Given the description of an element on the screen output the (x, y) to click on. 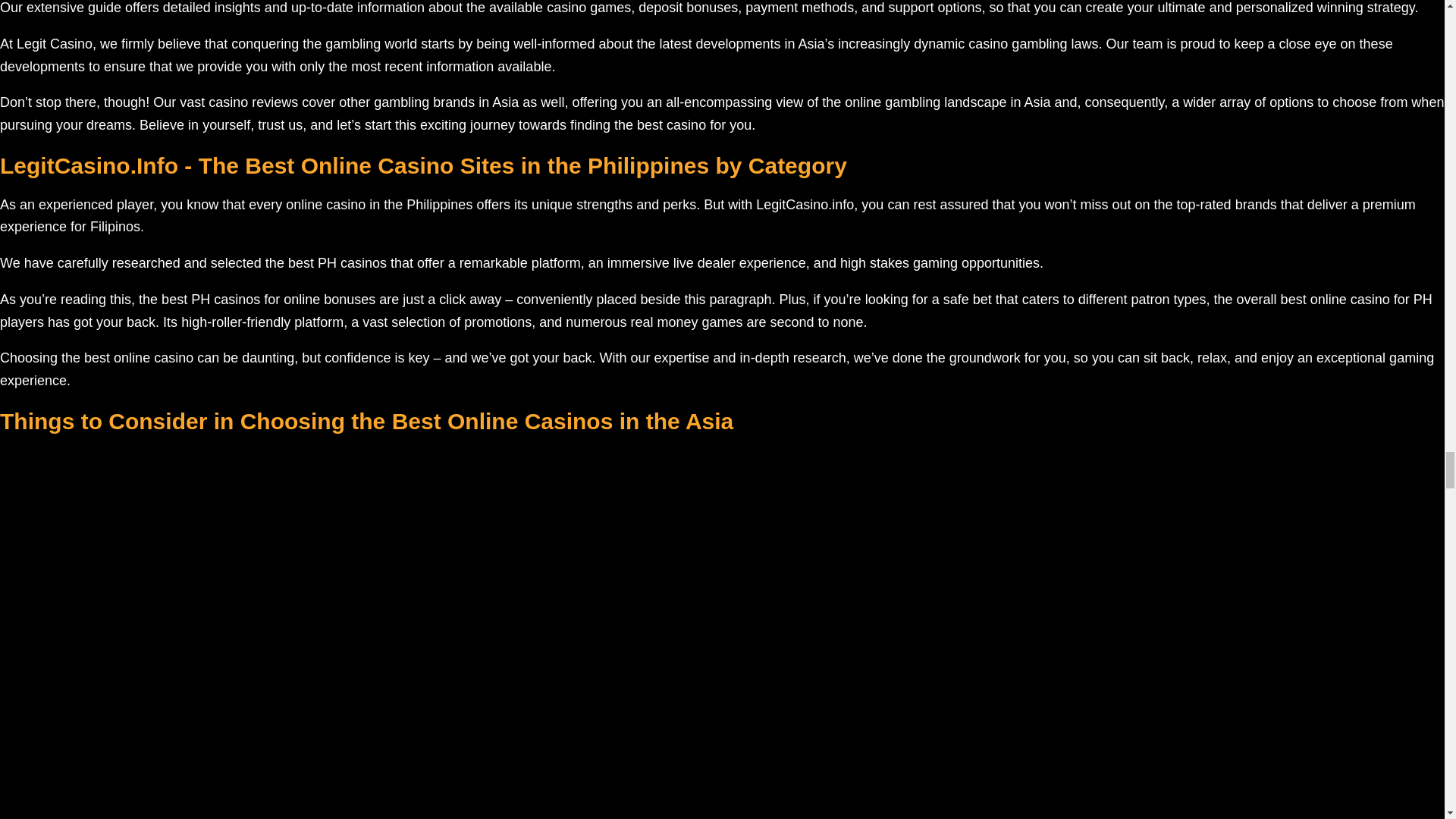
LegitCasino.info (804, 204)
winning strategy (1366, 7)
high-roller-friendly platform (261, 322)
best online casino (136, 357)
